Given the description of an element on the screen output the (x, y) to click on. 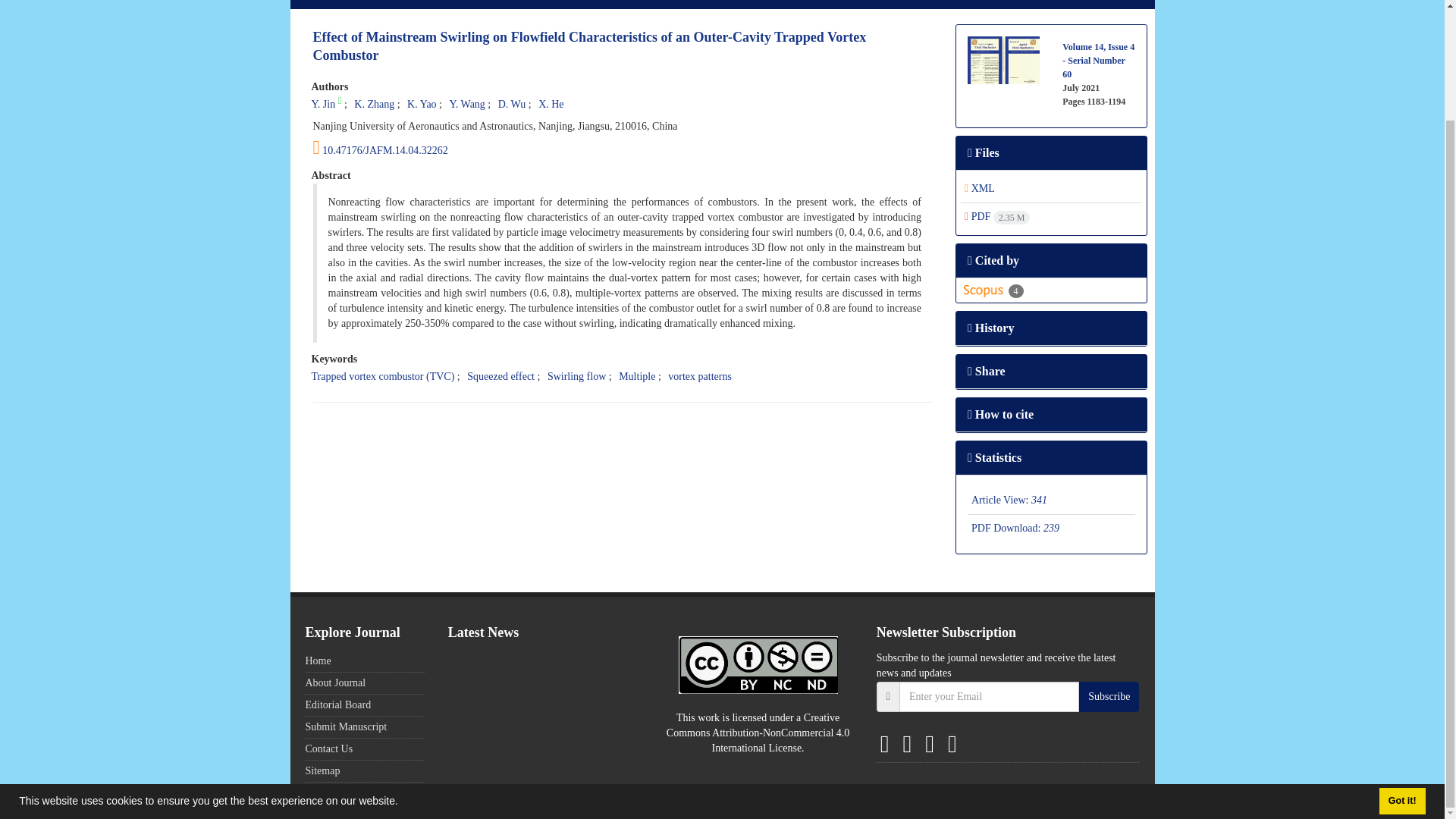
X. He (550, 103)
Cited by Scopus (991, 289)
Journal Info (446, 4)
D. Wu (511, 103)
Contact Us (779, 4)
Register (1125, 4)
Got it! (1401, 671)
Login (1072, 4)
Squeezed effect (500, 376)
